Given the description of an element on the screen output the (x, y) to click on. 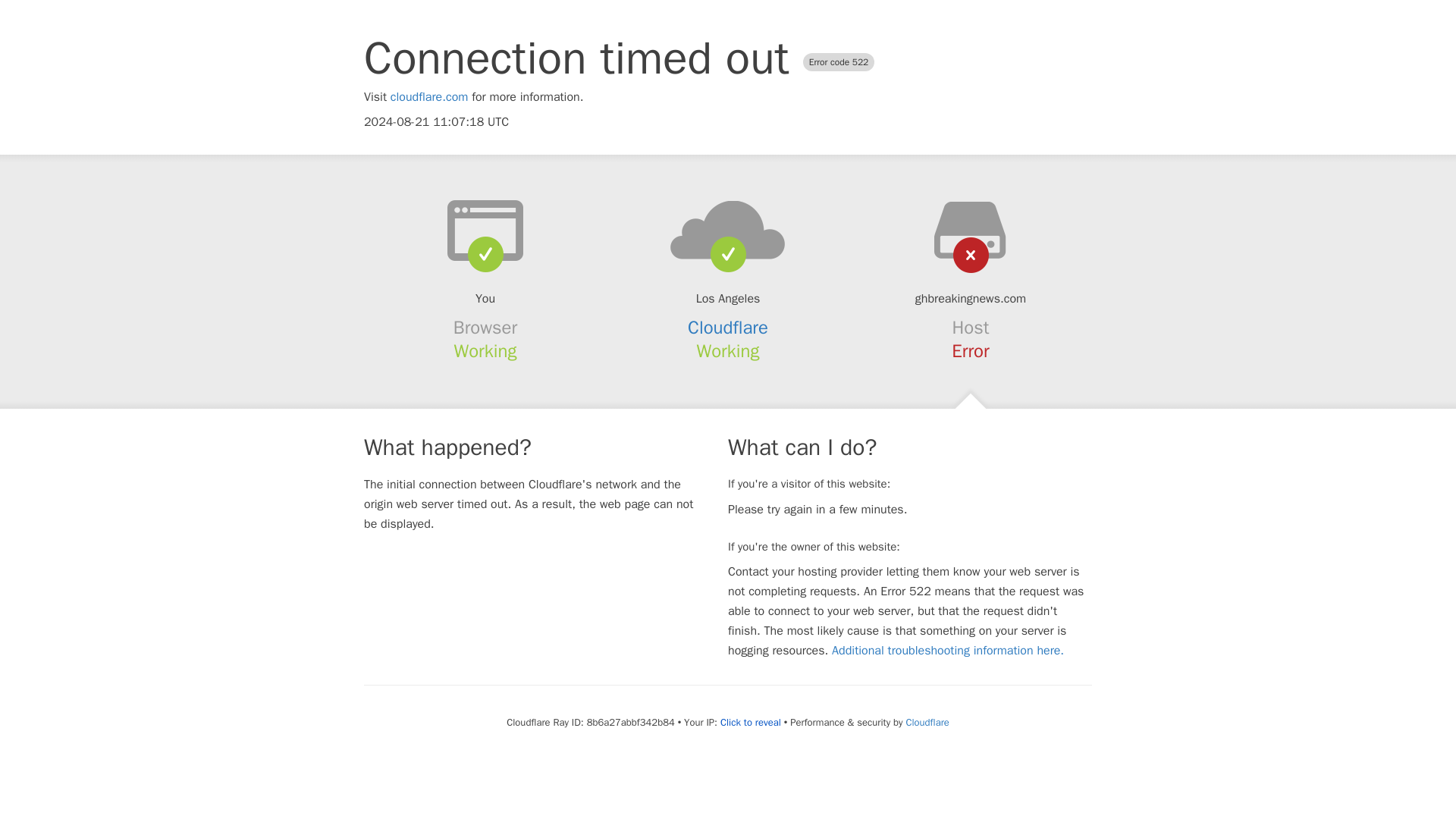
Additional troubleshooting information here. (947, 650)
cloudflare.com (429, 96)
Cloudflare (727, 327)
Cloudflare (927, 721)
Click to reveal (750, 722)
